Given the description of an element on the screen output the (x, y) to click on. 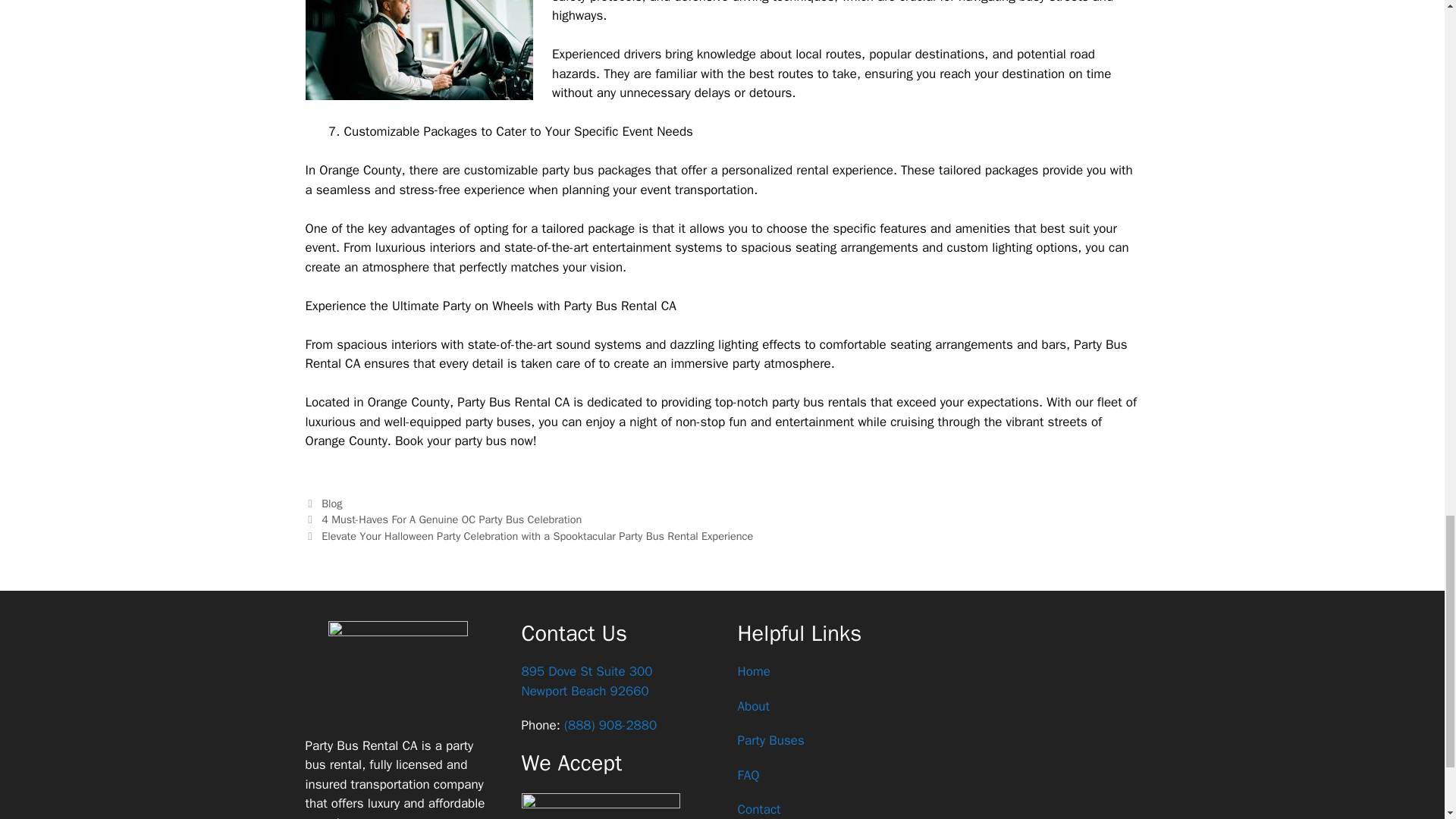
About (752, 706)
4 Must-Haves For A Genuine OC Party Bus Celebration (450, 519)
Professional and Experienced Chauffeurs (418, 49)
Party Buses (769, 740)
Home (753, 671)
FAQ (747, 774)
Contact (586, 681)
Blog (758, 809)
